Given the description of an element on the screen output the (x, y) to click on. 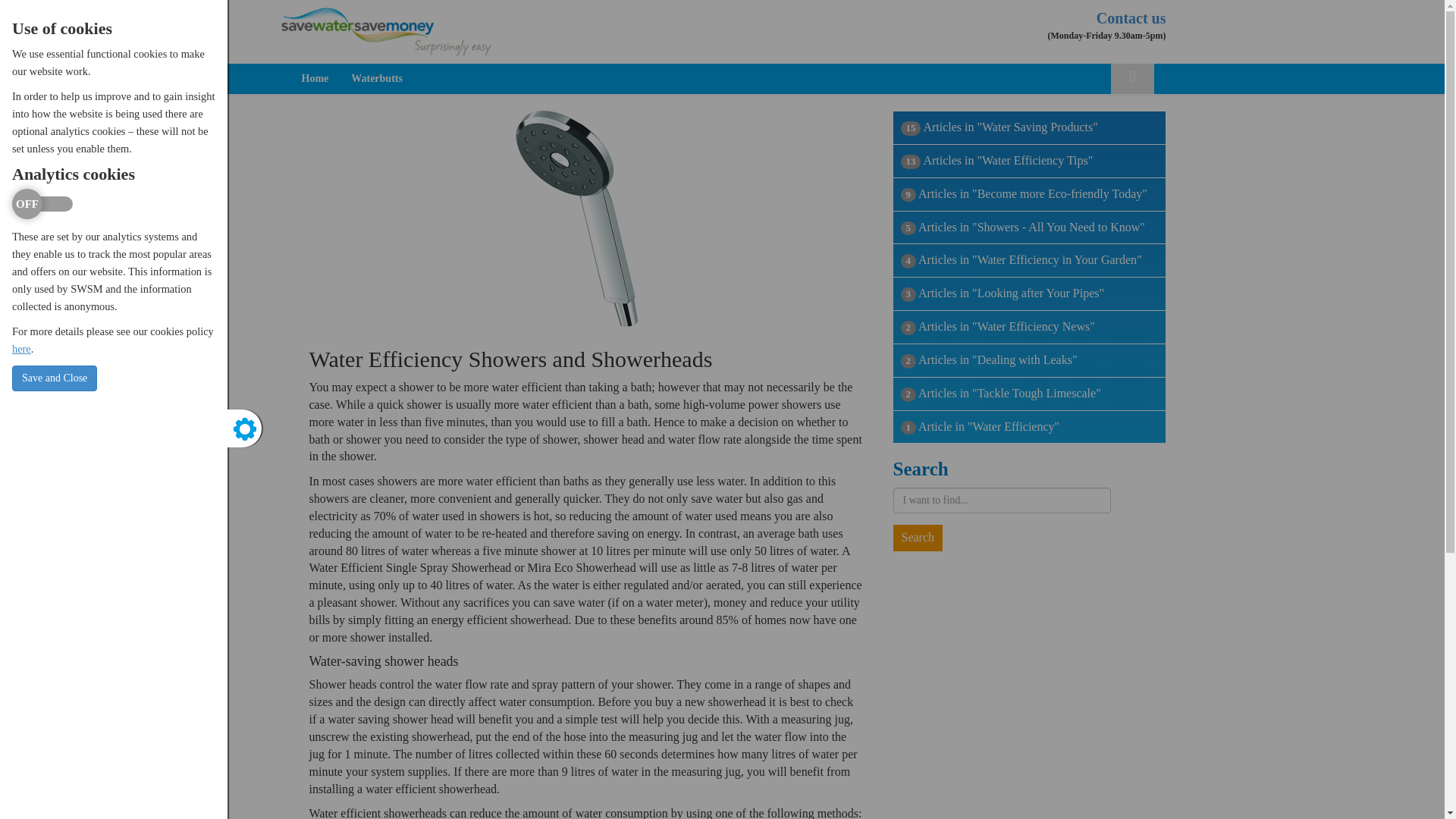
Contact us (1131, 17)
9 Articles in "Become more Eco-friendly Today" (1029, 194)
5 Articles in "Showers - All You Need to Know" (1029, 227)
2 Articles in "Water Efficiency News" (1029, 327)
here (20, 348)
2 Articles in "Dealing with Leaks" (1029, 360)
Waterbutts (376, 78)
15 Articles in "Water Saving Products" (1029, 127)
3 Articles in "Looking after Your Pipes" (1029, 294)
13 Articles in "Water Efficiency Tips" (1029, 161)
4 Articles in "Water Efficiency in Your Garden" (1029, 260)
Home (314, 78)
Save and Close (54, 378)
2 Articles in "Tackle Tough Limescale" (1029, 394)
1 Article in "Water Efficiency" (1029, 427)
